Given the description of an element on the screen output the (x, y) to click on. 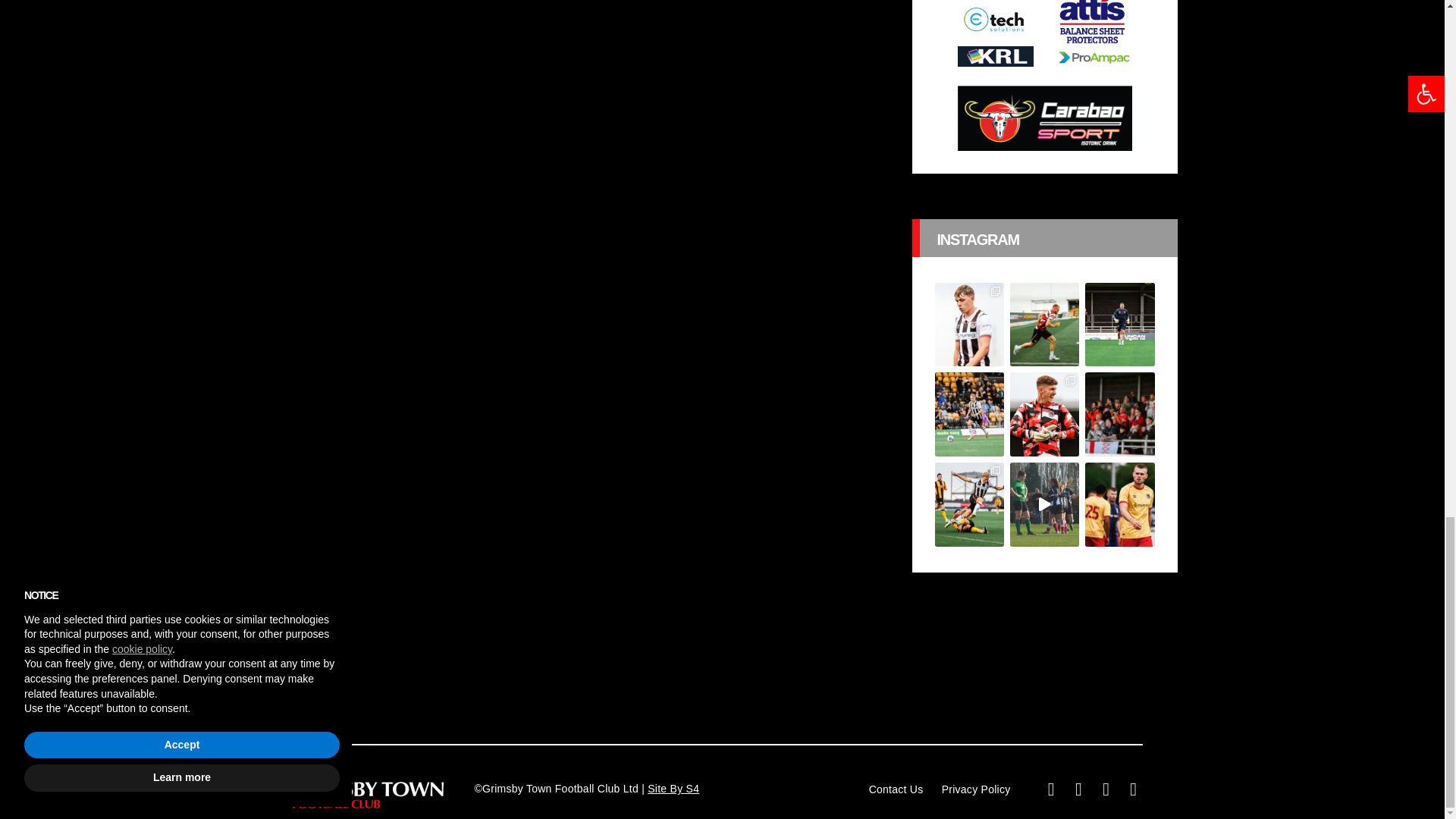
footerlogo.png (366, 794)
